Given the description of an element on the screen output the (x, y) to click on. 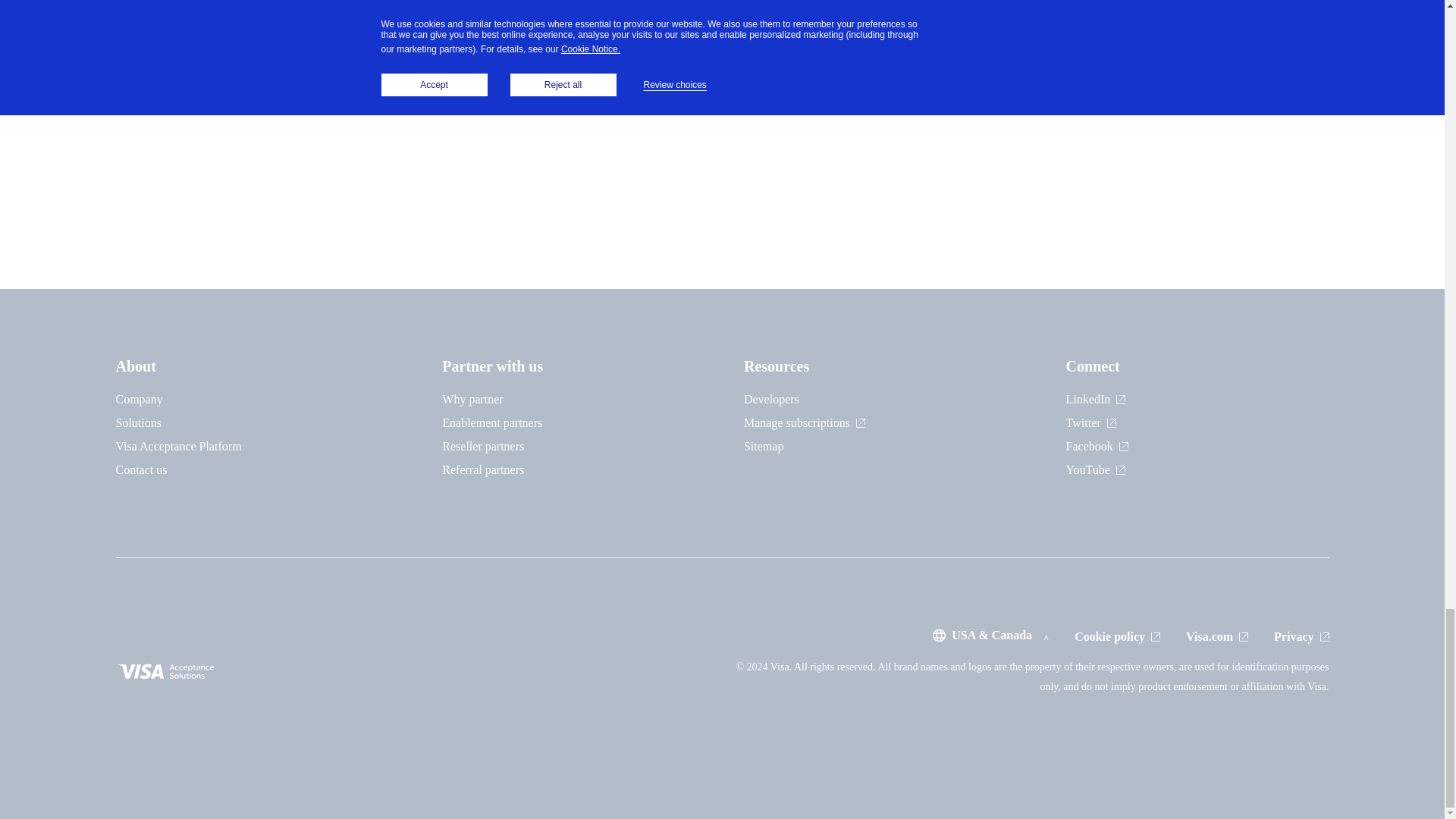
Company (138, 399)
Contact us (141, 469)
Visa Acceptance Platform (178, 445)
Referral partners (483, 469)
Manage subscriptions (804, 422)
Sitemap (763, 445)
Developers (771, 399)
Why partner (472, 399)
view cookie policy (1117, 635)
LinkedIn (1095, 399)
